Given the description of an element on the screen output the (x, y) to click on. 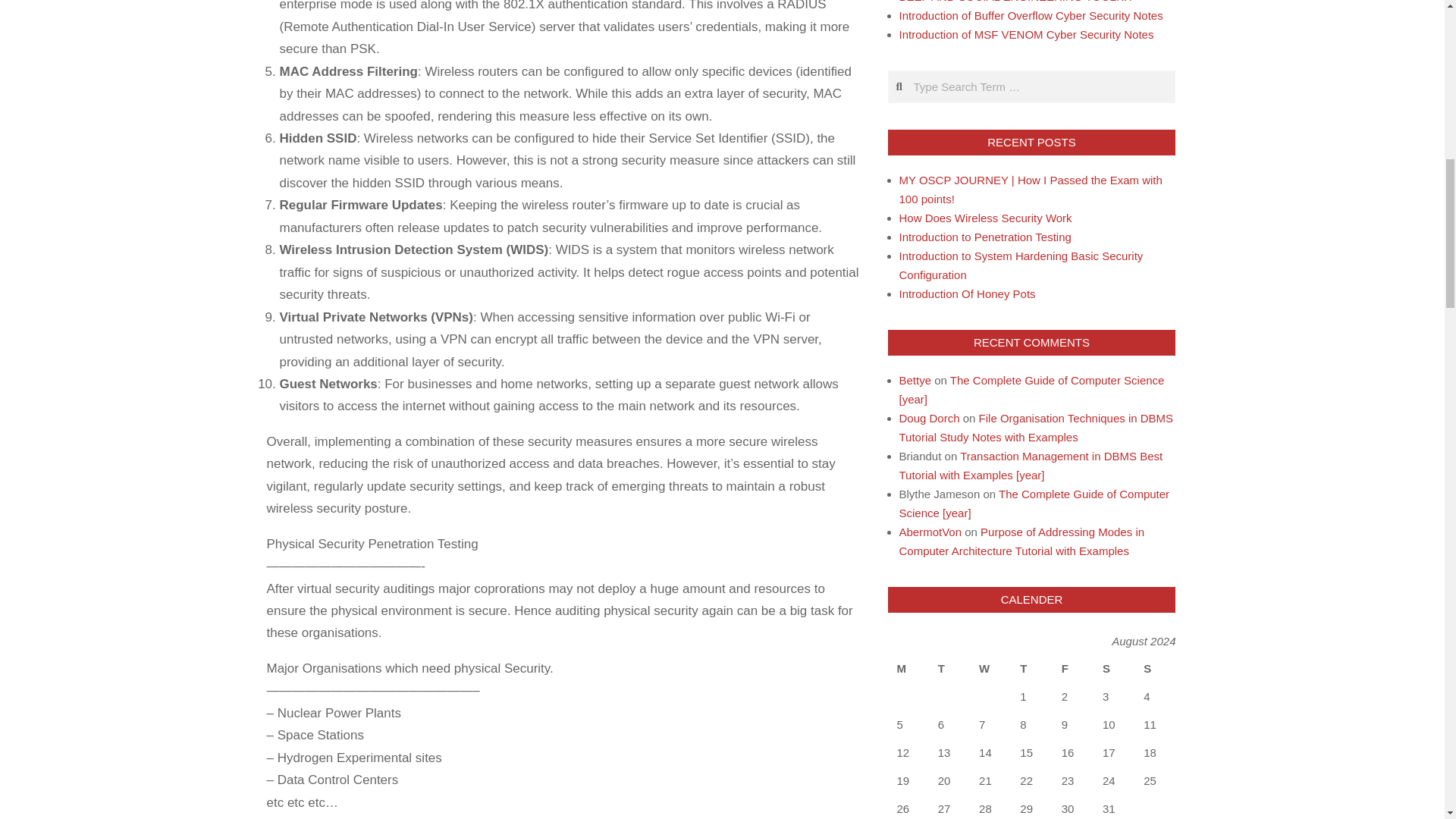
Monday (907, 668)
Thursday (1030, 668)
Friday (1072, 668)
Wednesday (989, 668)
Sunday (1154, 668)
Saturday (1113, 668)
Tuesday (948, 668)
